Given the description of an element on the screen output the (x, y) to click on. 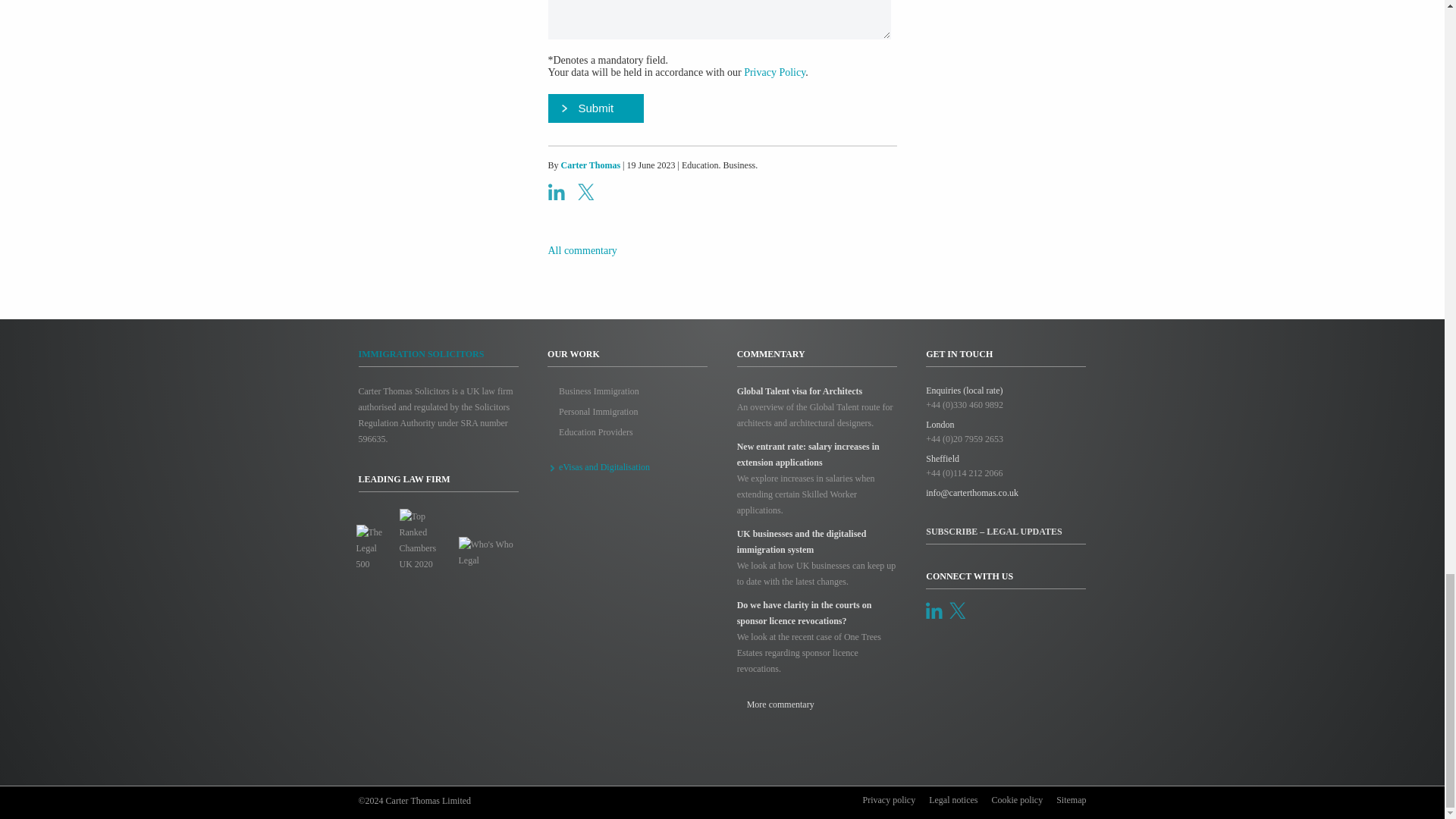
Posts by Carter Thomas (590, 164)
Global Talent visa for Architects (799, 390)
Submit (595, 108)
Privacy Policy (774, 71)
Submit (595, 108)
